Given the description of an element on the screen output the (x, y) to click on. 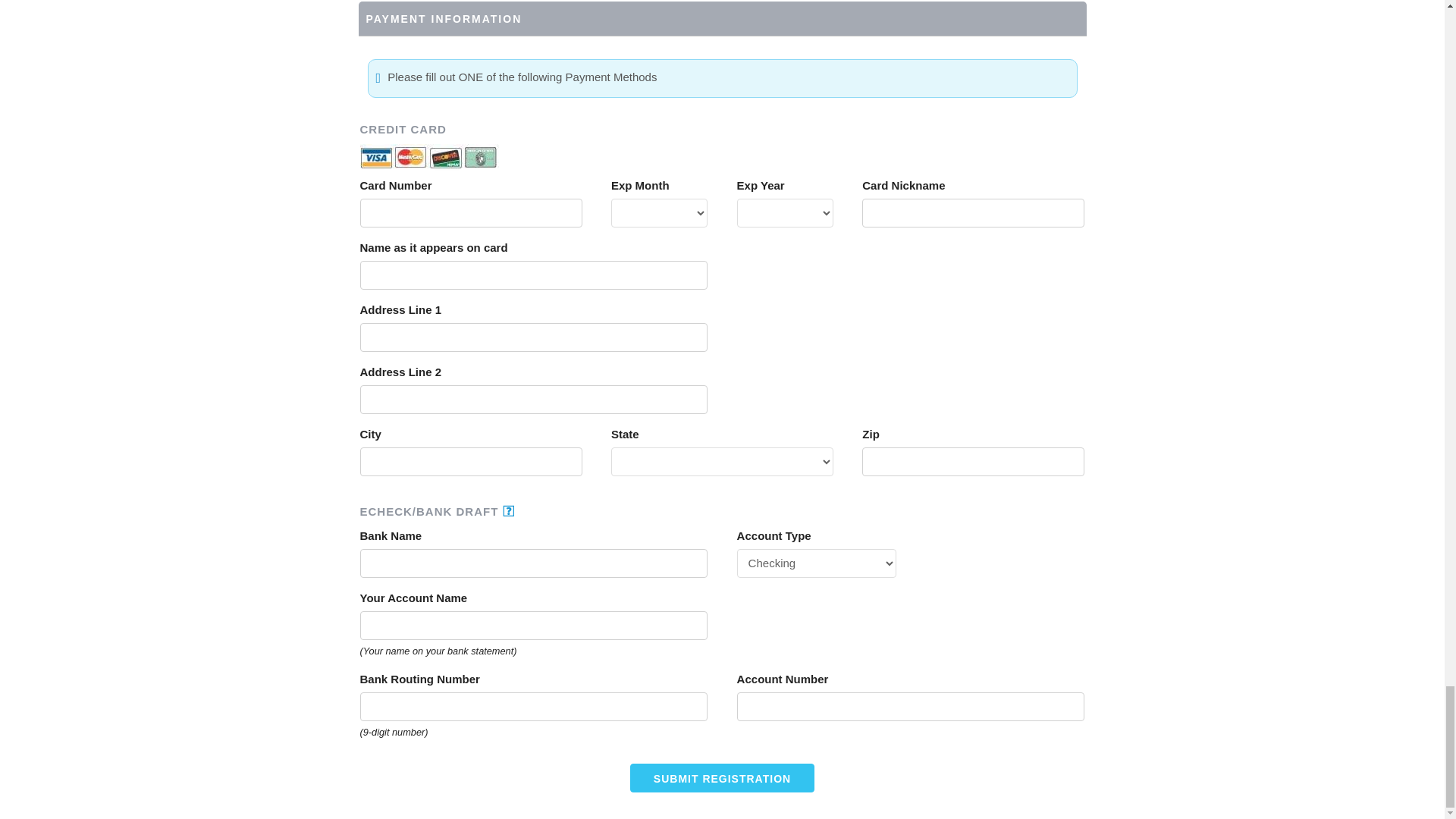
Additional Info (507, 511)
Submit this information (721, 777)
